Given the description of an element on the screen output the (x, y) to click on. 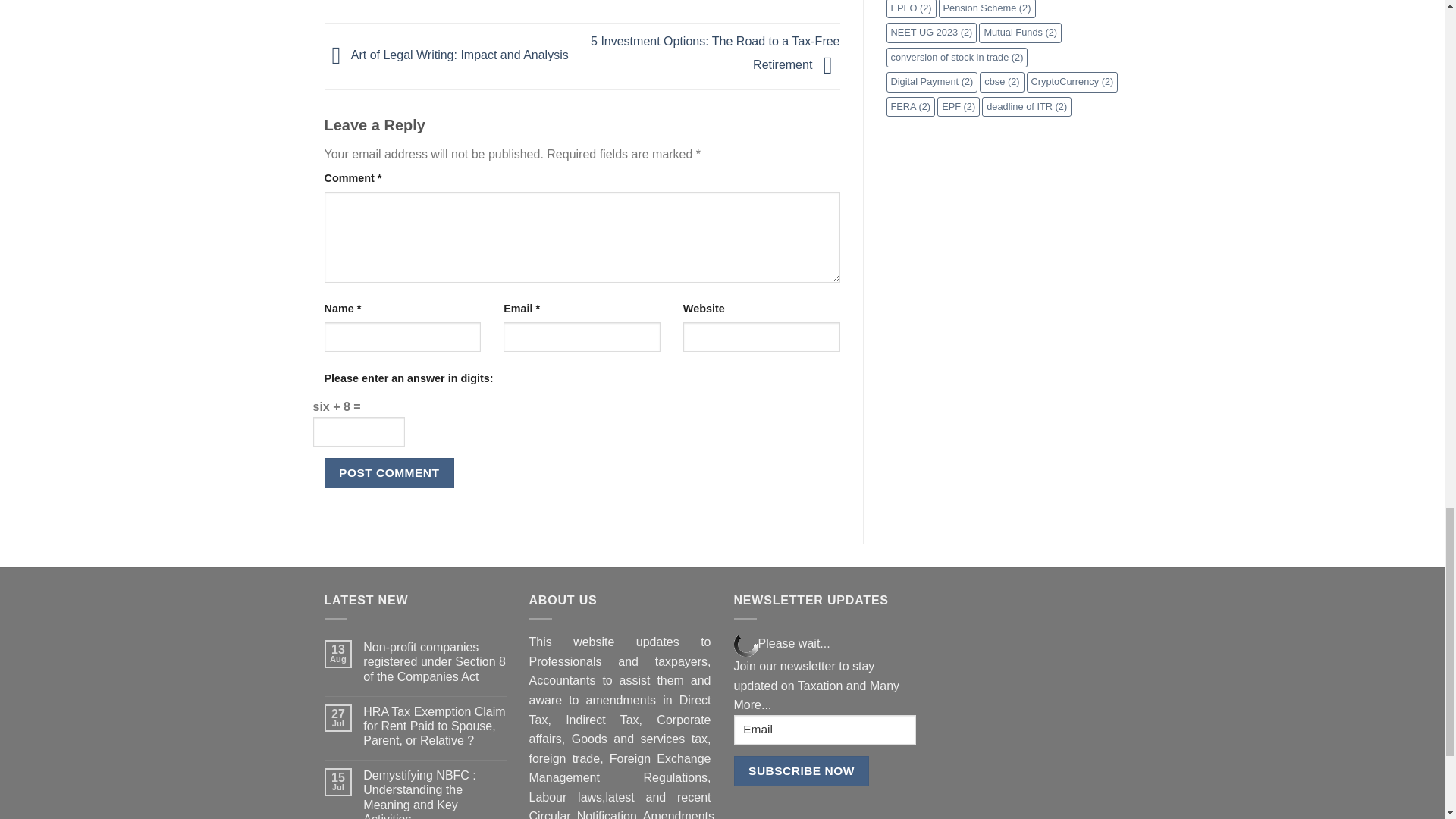
Email (824, 729)
Subscribe Now (801, 770)
Post Comment (389, 472)
